Given the description of an element on the screen output the (x, y) to click on. 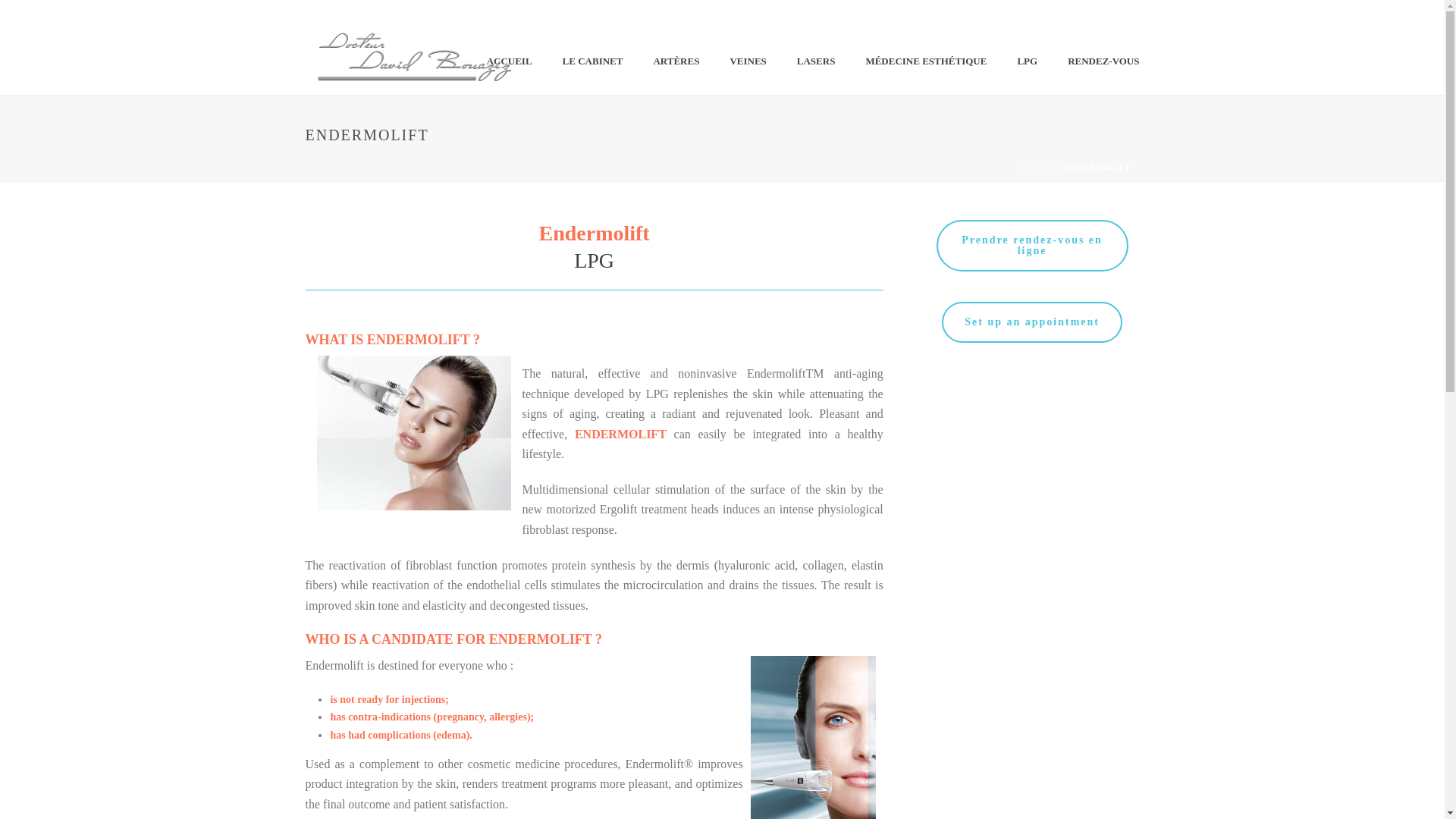
LASERS (815, 61)
LASERS (815, 61)
ACCUEIL (509, 61)
Prendre rendez-vous en ligne (1032, 245)
RENDEZ-VOUS (1103, 61)
LPG (1026, 61)
VEINES (747, 61)
VEINES (747, 61)
Set up an appointment (1032, 322)
LE CABINET (593, 61)
